Given the description of an element on the screen output the (x, y) to click on. 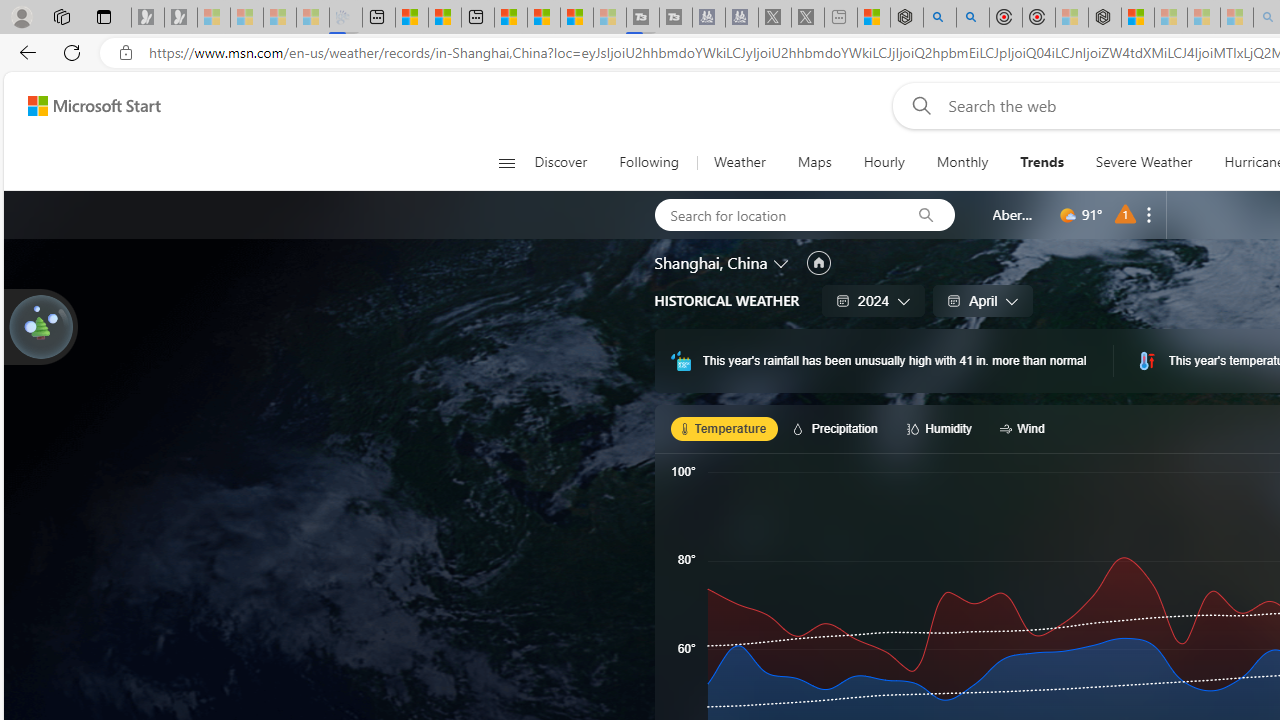
Class: button-glyph (505, 162)
Newsletter Sign Up - Sleeping (181, 17)
